Given the description of an element on the screen output the (x, y) to click on. 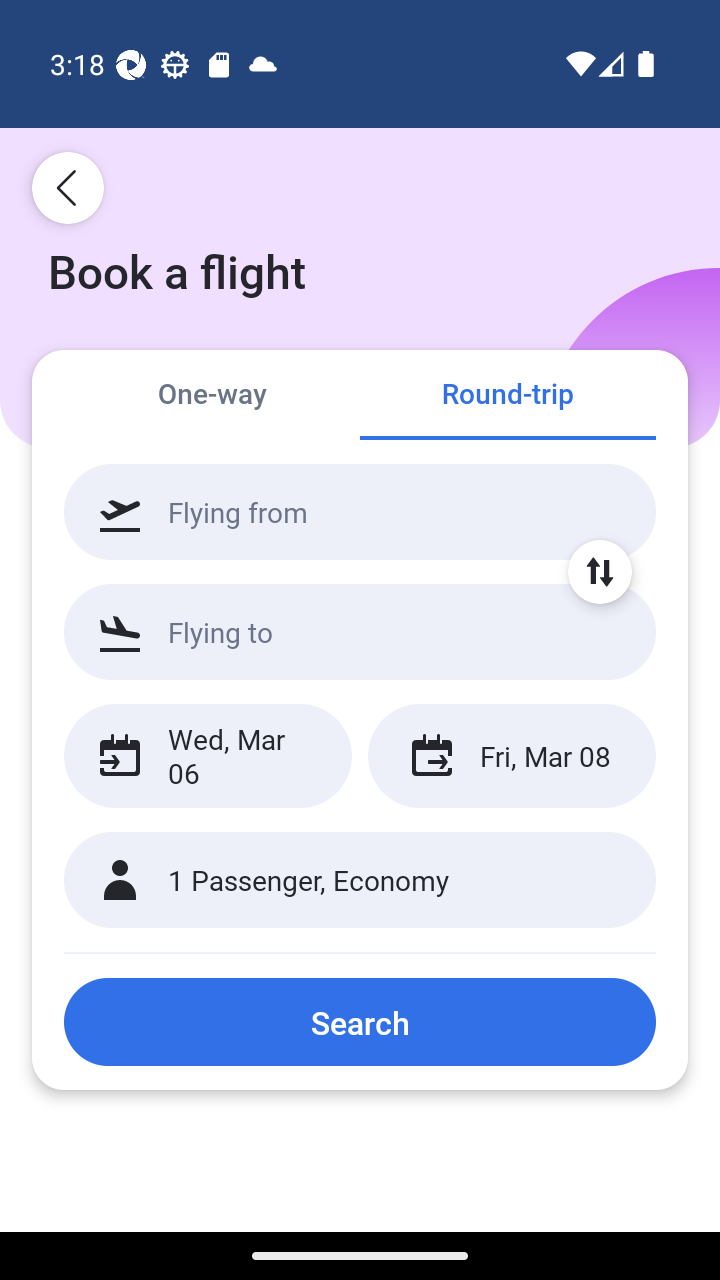
One-way (212, 394)
Flying from (359, 511)
Flying to (359, 631)
Wed, Mar 06 (208, 755)
Fri, Mar 08 (511, 755)
1 Passenger, Economy (359, 880)
Search (359, 1022)
